Given the description of an element on the screen output the (x, y) to click on. 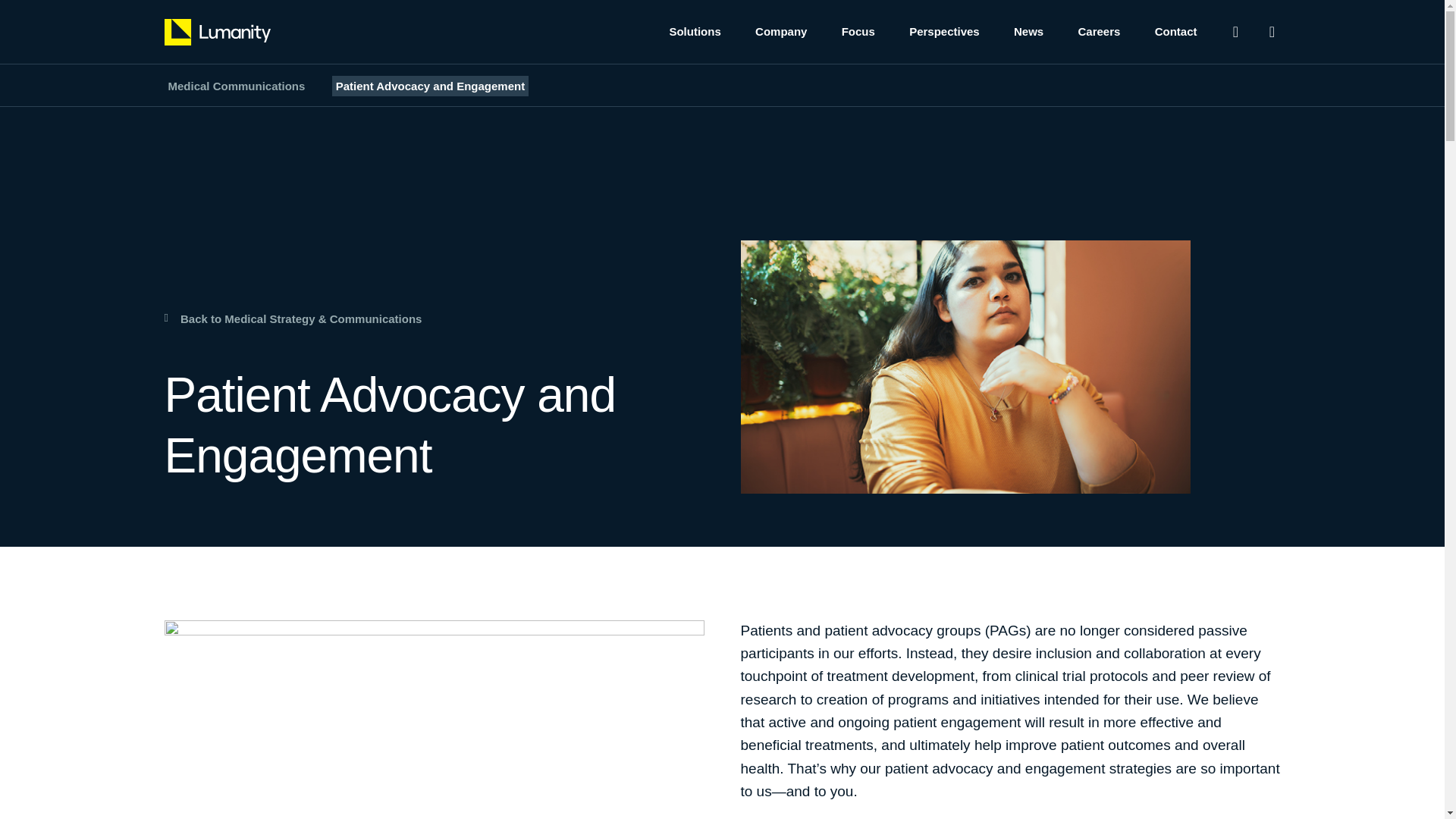
Focus (858, 31)
Solutions (694, 31)
News (1028, 31)
Perspectives (943, 31)
Company (780, 31)
